Given the description of an element on the screen output the (x, y) to click on. 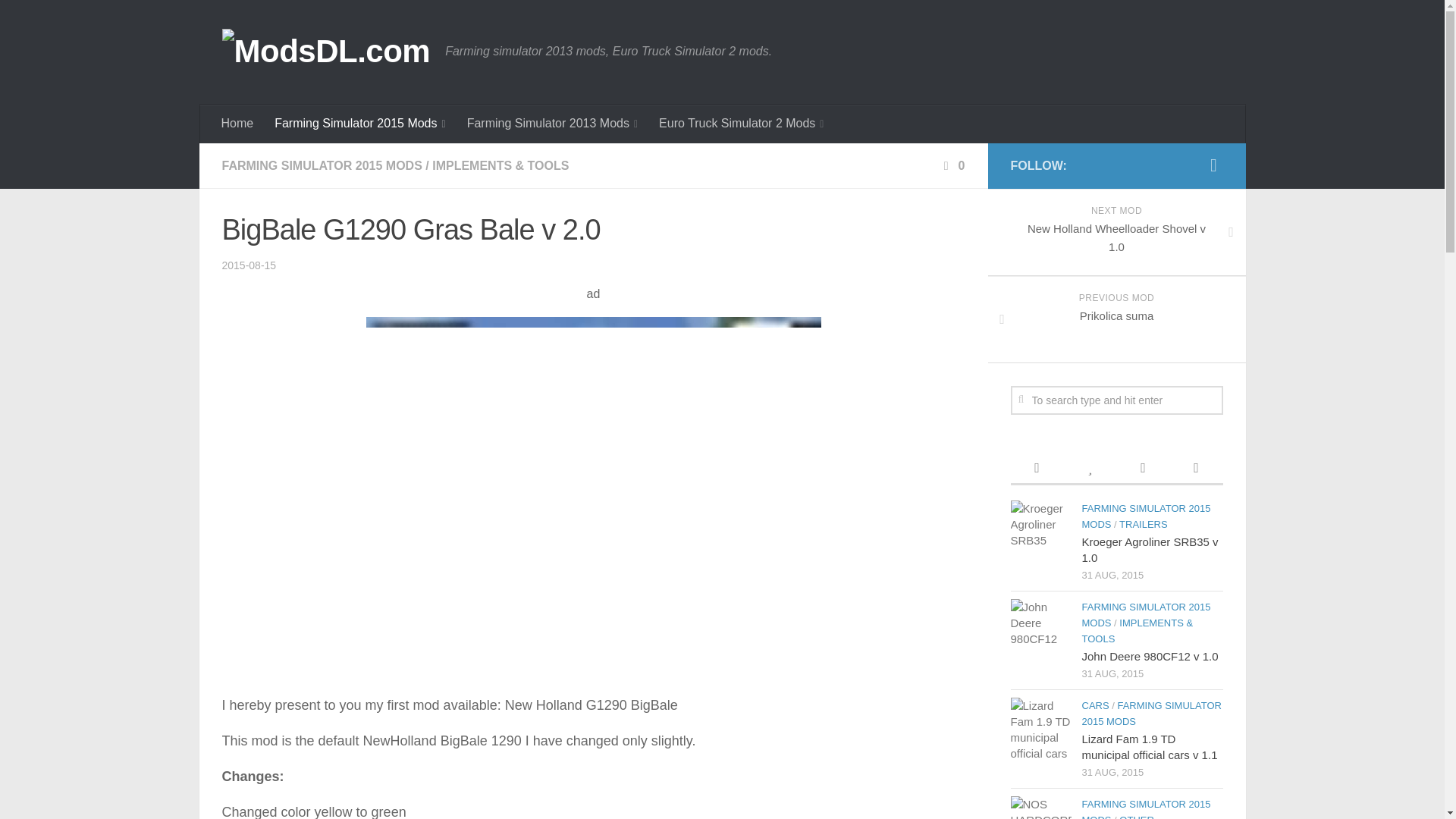
Home (237, 123)
John Deere 980CF12 v 1.0 (1149, 656)
To search type and hit enter (1116, 399)
Kroeger Agroliner SRB35 v 1.0 (1149, 549)
Recent Comments (1142, 468)
John Deere 980CF12 v 1.0 (1040, 629)
Euro Truck Simulator 2 Mods (740, 123)
To search type and hit enter (1116, 399)
Farming Simulator 2015 Mods (359, 123)
Tags (1196, 468)
Kroeger Agroliner SRB35 v 1.0 (1040, 530)
ModsDL.com on Facebook (1213, 165)
FARMING SIMULATOR 2015 MODS (321, 164)
Farming Simulator 2013 Mods (552, 123)
Recent Posts (1036, 468)
